Given the description of an element on the screen output the (x, y) to click on. 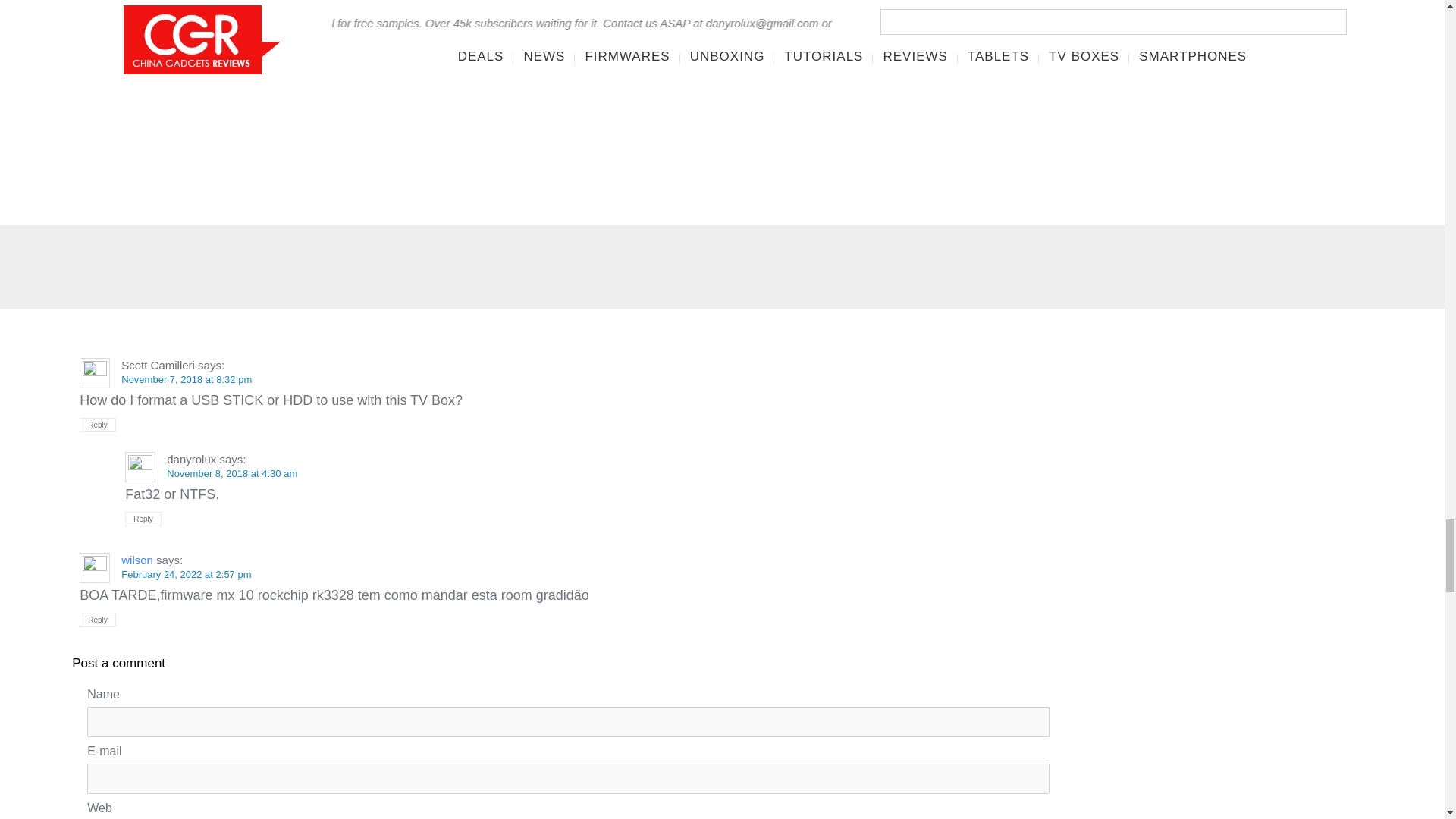
Reply (143, 518)
November 7, 2018 at 8:32 pm (185, 378)
Reply (98, 424)
November 8, 2018 at 4:30 am (232, 473)
wilson (136, 559)
